Given the description of an element on the screen output the (x, y) to click on. 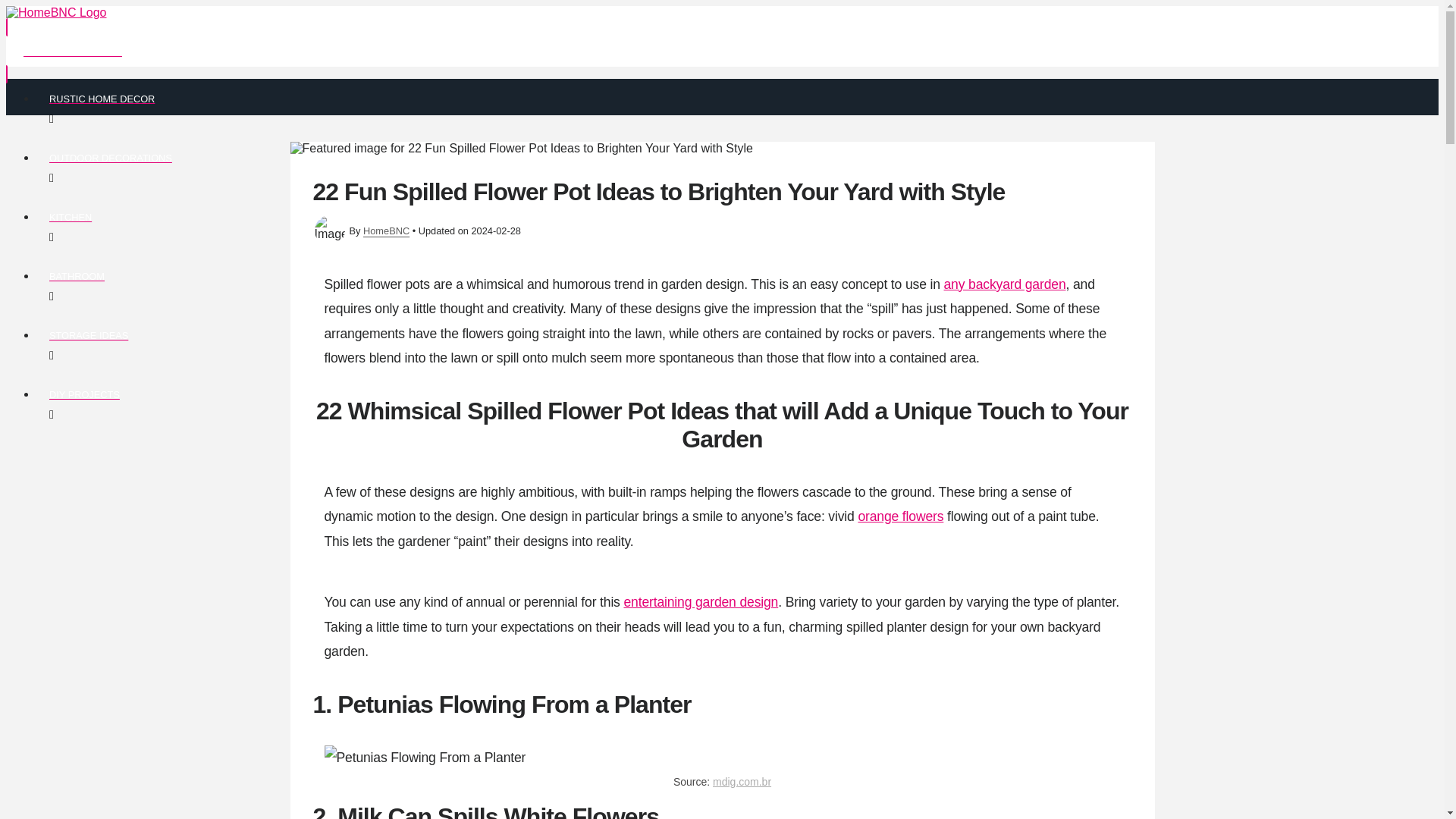
DIY PROJECTS (475, 404)
OUTDOOR DECORATIONS (475, 167)
Subscribe Now (460, 50)
mdig.com.br (742, 781)
entertaining garden design (700, 601)
BATHROOM (475, 285)
KITCHEN (475, 226)
any backyard garden (1004, 283)
HomeBNC (385, 229)
STORAGE IDEAS (475, 344)
